Given the description of an element on the screen output the (x, y) to click on. 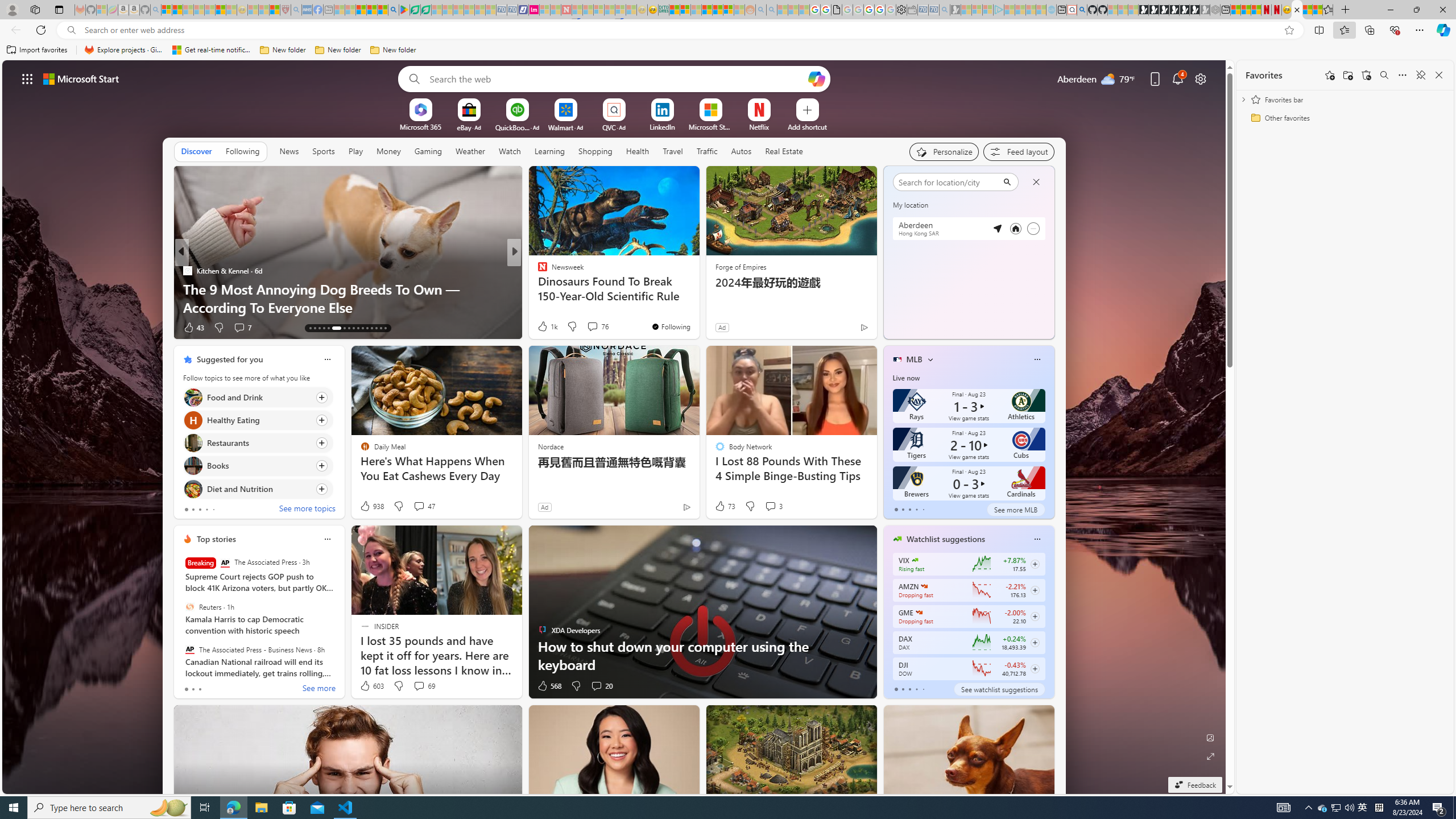
Favorites bar (728, 49)
View comments 6 Comment (589, 327)
View comments 37 Comment (243, 327)
AutomationID: tab-15 (319, 328)
Discover Magazine (187, 270)
Personalize your feed" (943, 151)
Set as your primary location (1015, 228)
